Given the description of an element on the screen output the (x, y) to click on. 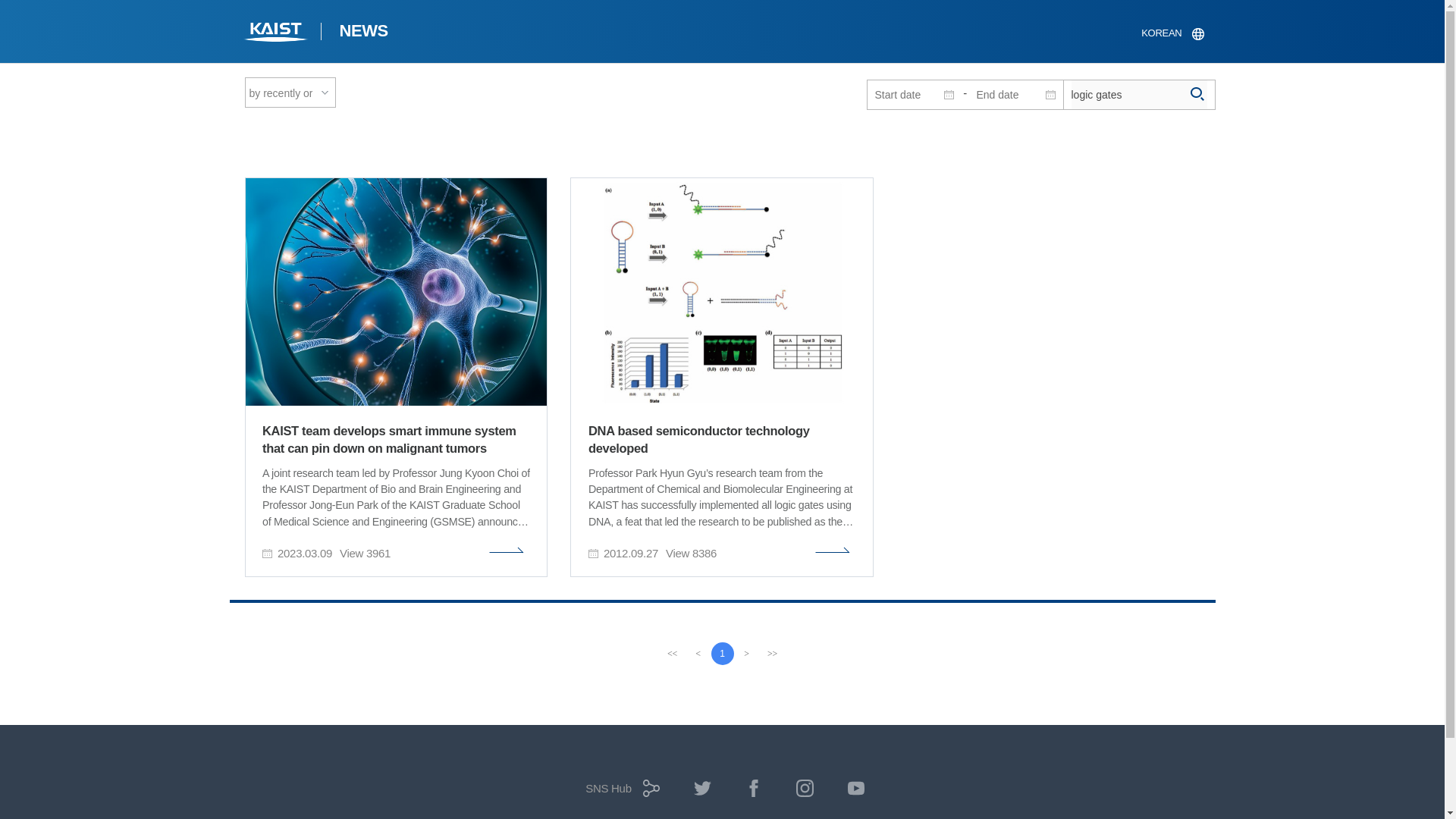
KAIST (276, 33)
NEWS (363, 33)
SNS Hub (619, 793)
KOREAN (1171, 33)
Input a Keyword (1138, 94)
1 (722, 653)
logic gates (1138, 94)
